Given the description of an element on the screen output the (x, y) to click on. 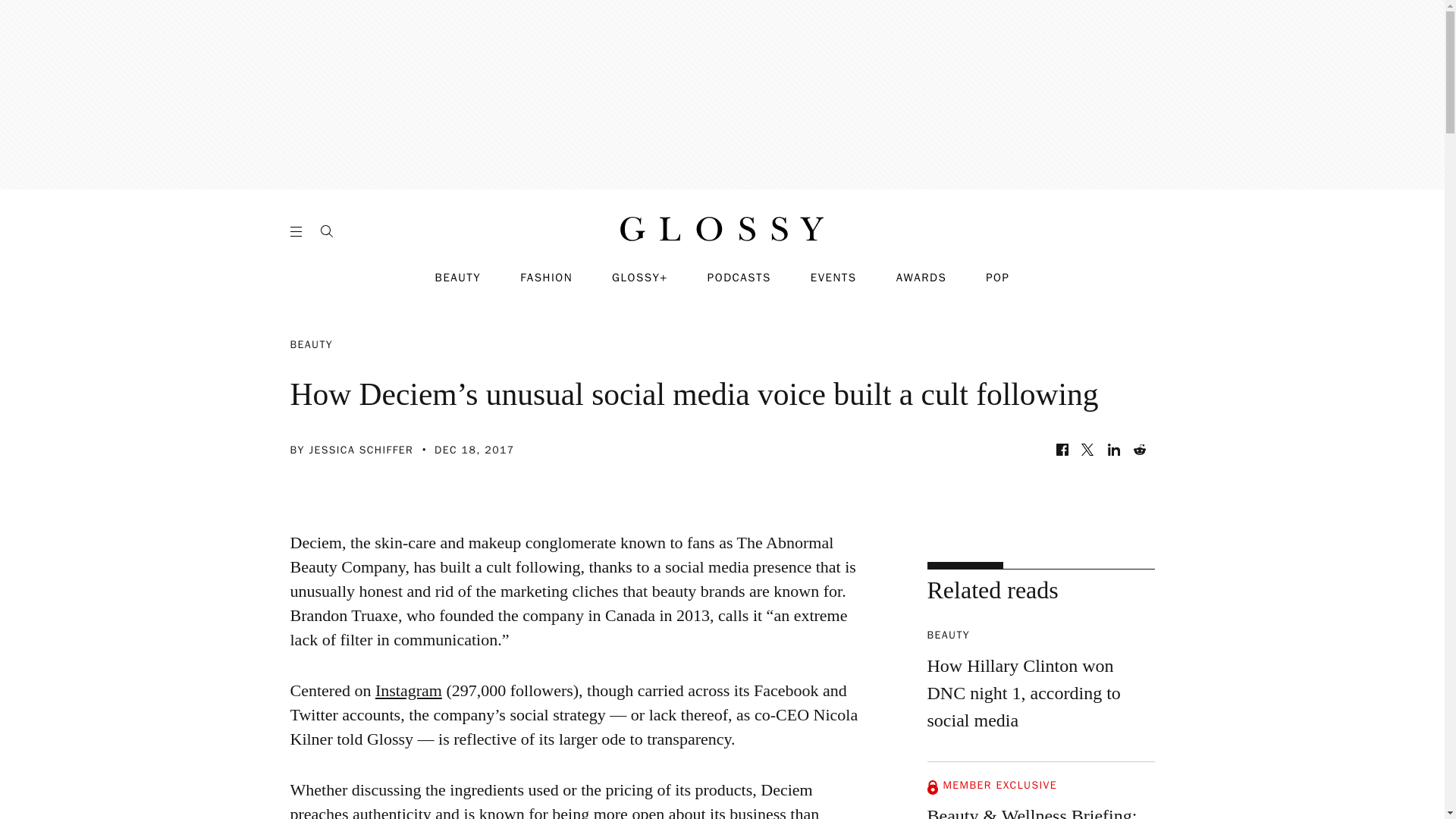
AWARDS (921, 277)
POP (997, 277)
PODCASTS (739, 277)
BEAUTY (458, 277)
FASHION (545, 277)
EVENTS (833, 277)
